Given the description of an element on the screen output the (x, y) to click on. 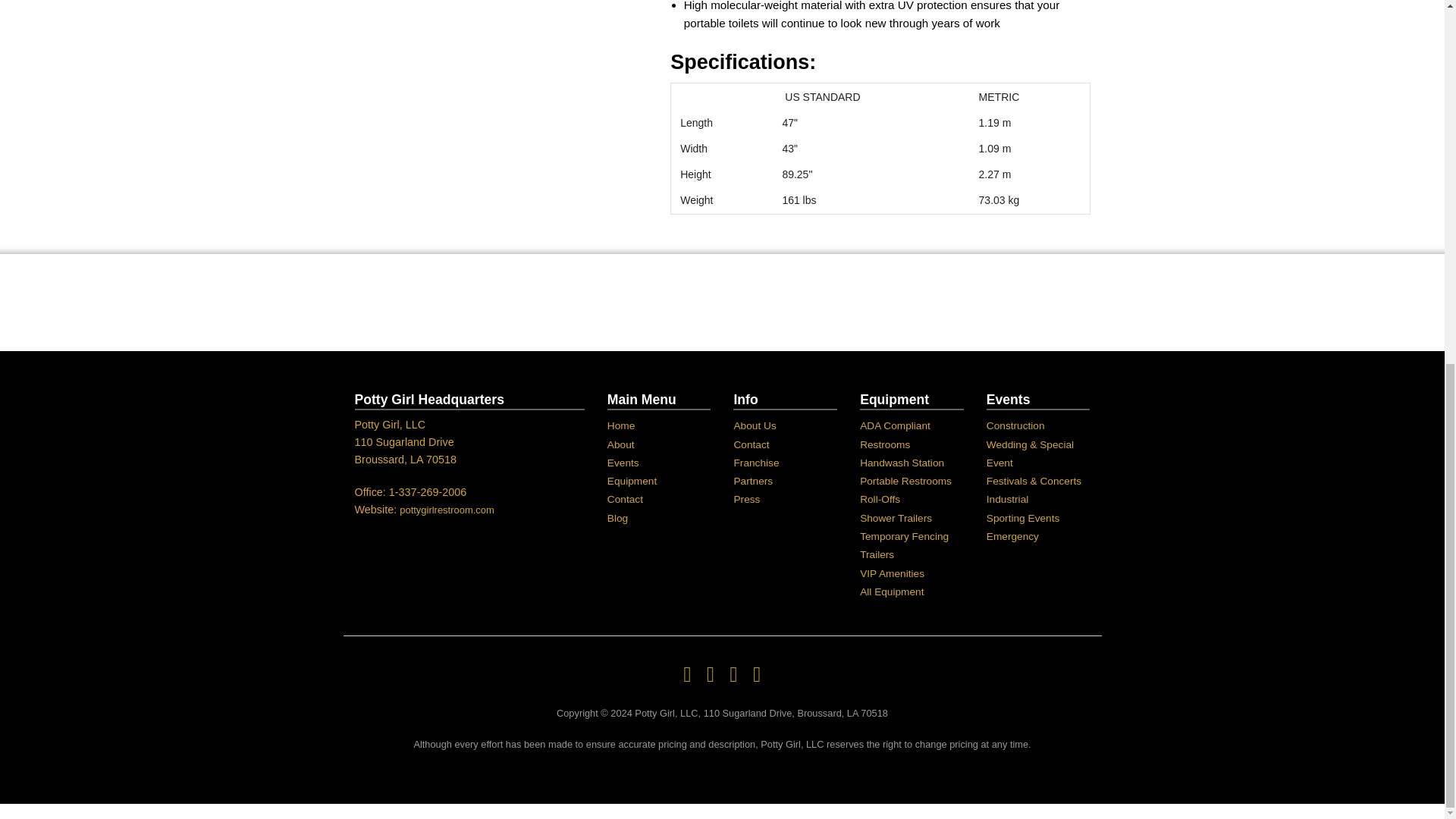
Blog (617, 518)
Contact (750, 444)
Handwash Station (901, 462)
Press (746, 499)
Events (623, 462)
Franchise (755, 462)
About Us (754, 425)
Equipment (631, 480)
ADA Compliant Restrooms (895, 434)
About (620, 444)
Home (620, 425)
Portable Restrooms (906, 480)
Partners (753, 480)
Contact (625, 499)
